Given the description of an element on the screen output the (x, y) to click on. 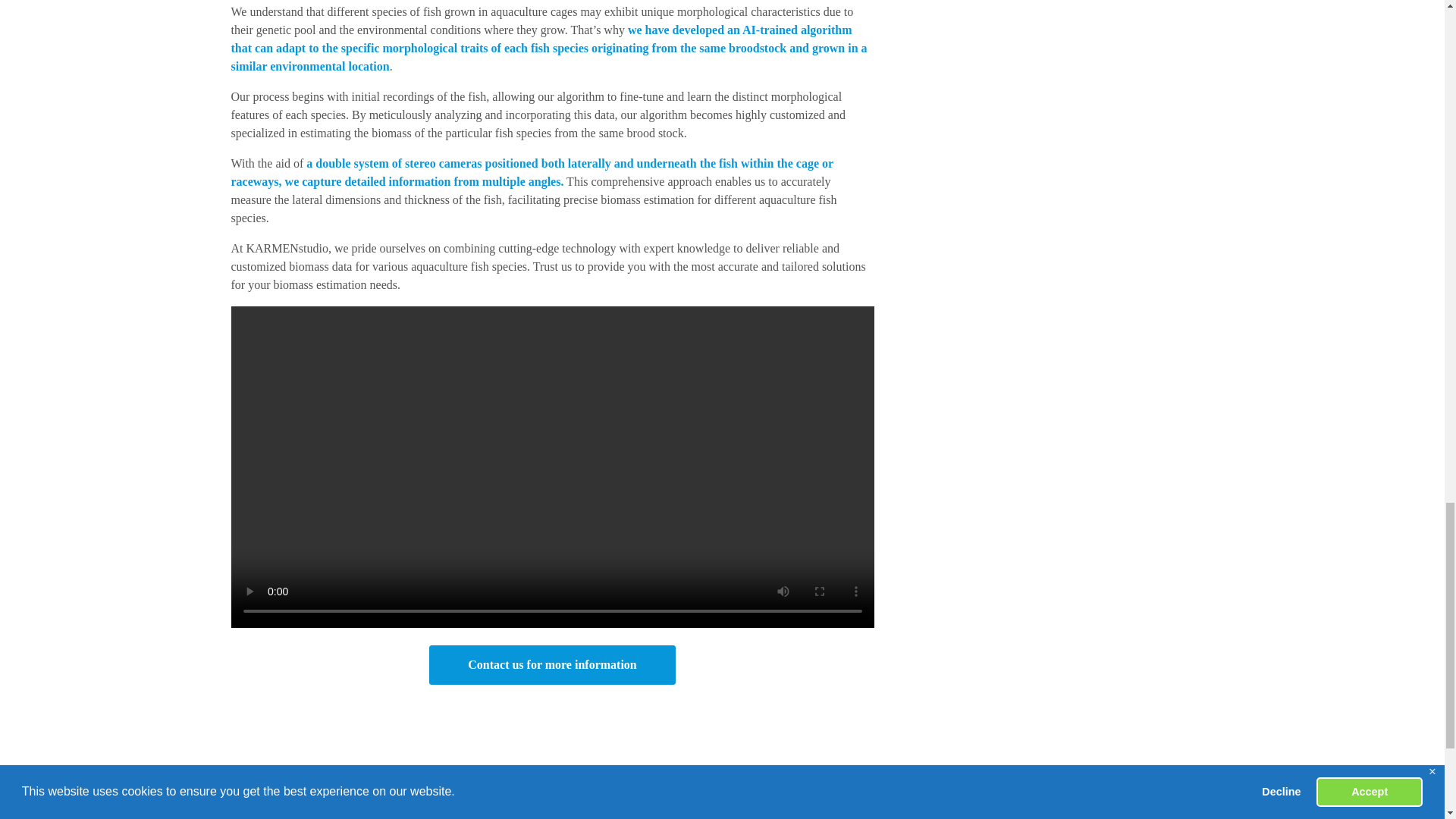
Contact us for more information (552, 664)
